Given the description of an element on the screen output the (x, y) to click on. 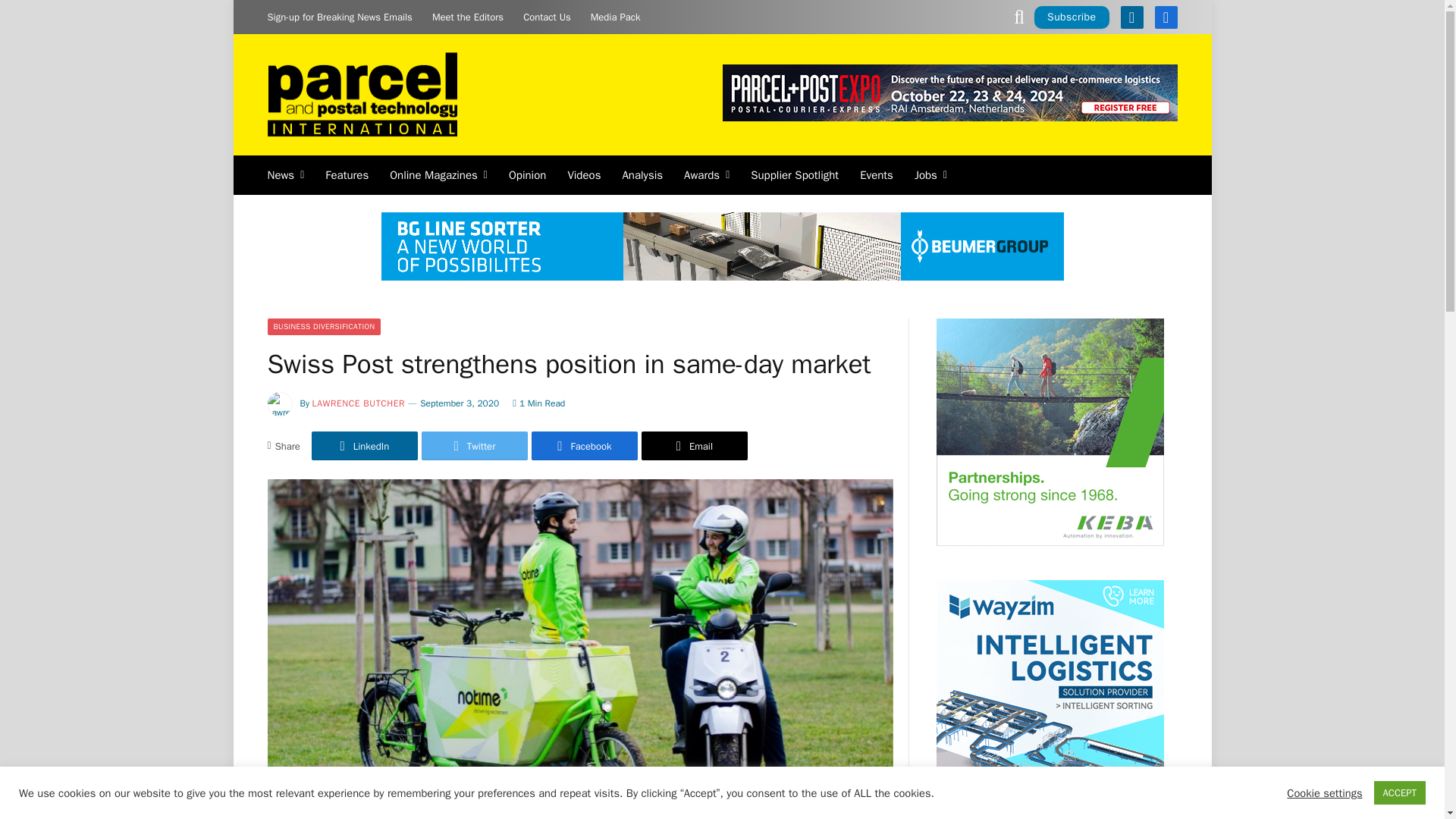
Share on LinkedIn (364, 445)
Parcel and Postal Technology International (361, 95)
Share via Email (695, 445)
Share on Facebook (584, 445)
Posts by Lawrence Butcher (359, 403)
Share on Twitter (474, 445)
